Given the description of an element on the screen output the (x, y) to click on. 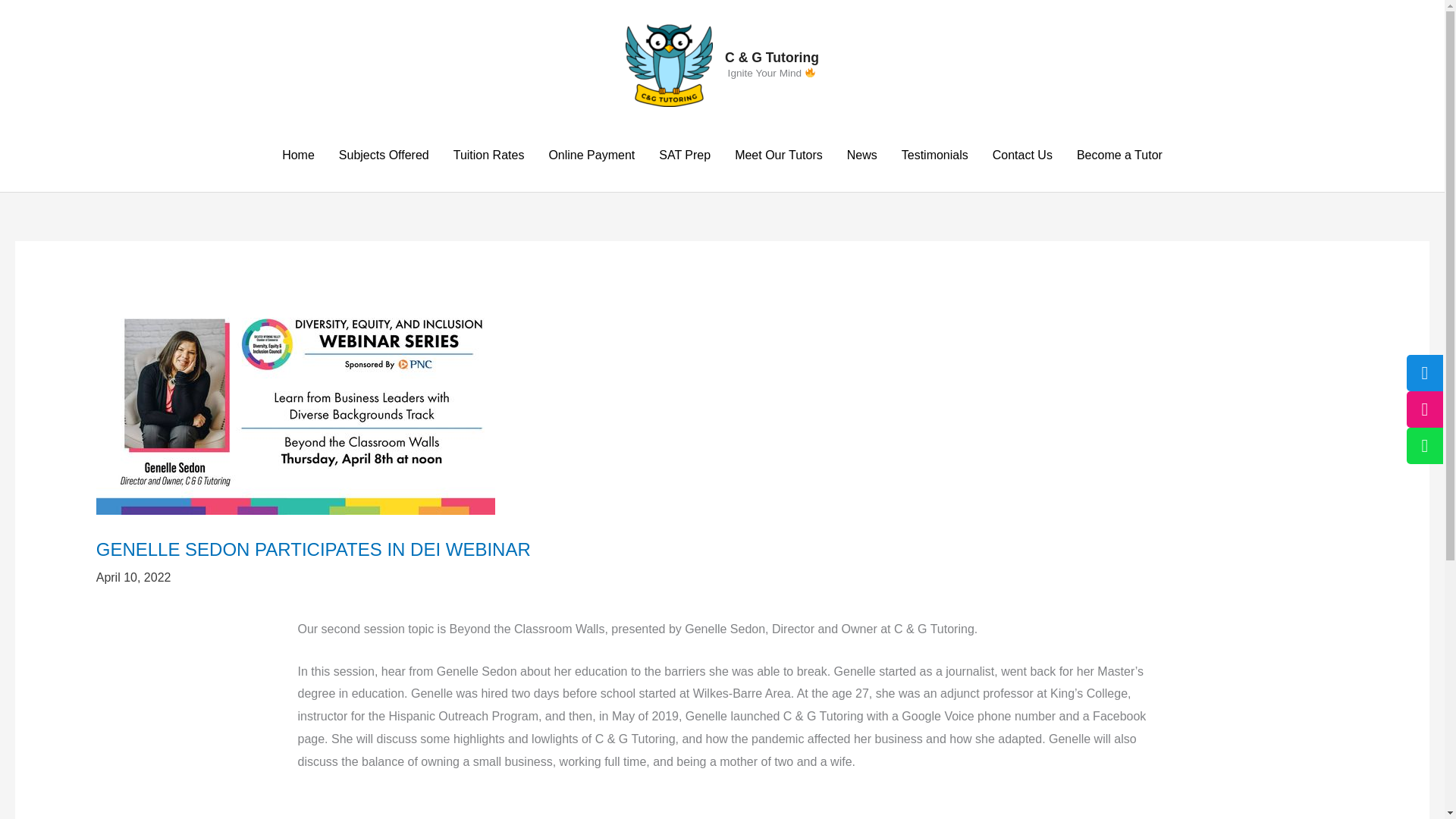
News (861, 155)
Home (297, 155)
Tuition Rates (489, 155)
Online Payment (590, 155)
Become a Tutor (1119, 155)
Meet Our Tutors (778, 155)
Testimonials (934, 155)
SAT Prep (684, 155)
Contact Us (1021, 155)
Subjects Offered (383, 155)
